Given the description of an element on the screen output the (x, y) to click on. 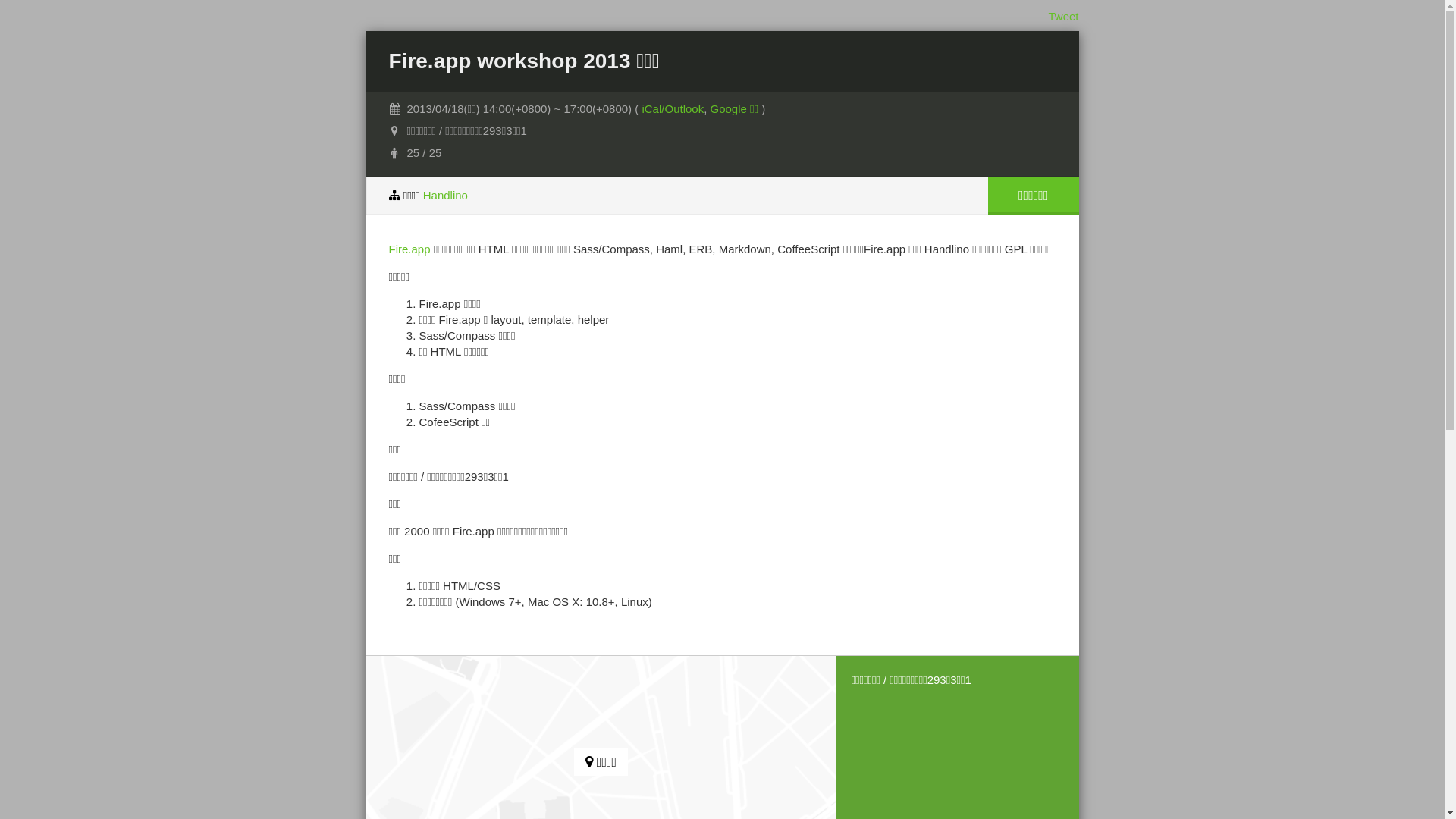
Fire.app Element type: text (408, 248)
iCal/Outlook Element type: text (672, 108)
Tweet Element type: text (1063, 15)
Handlino Element type: text (445, 194)
